Given the description of an element on the screen output the (x, y) to click on. 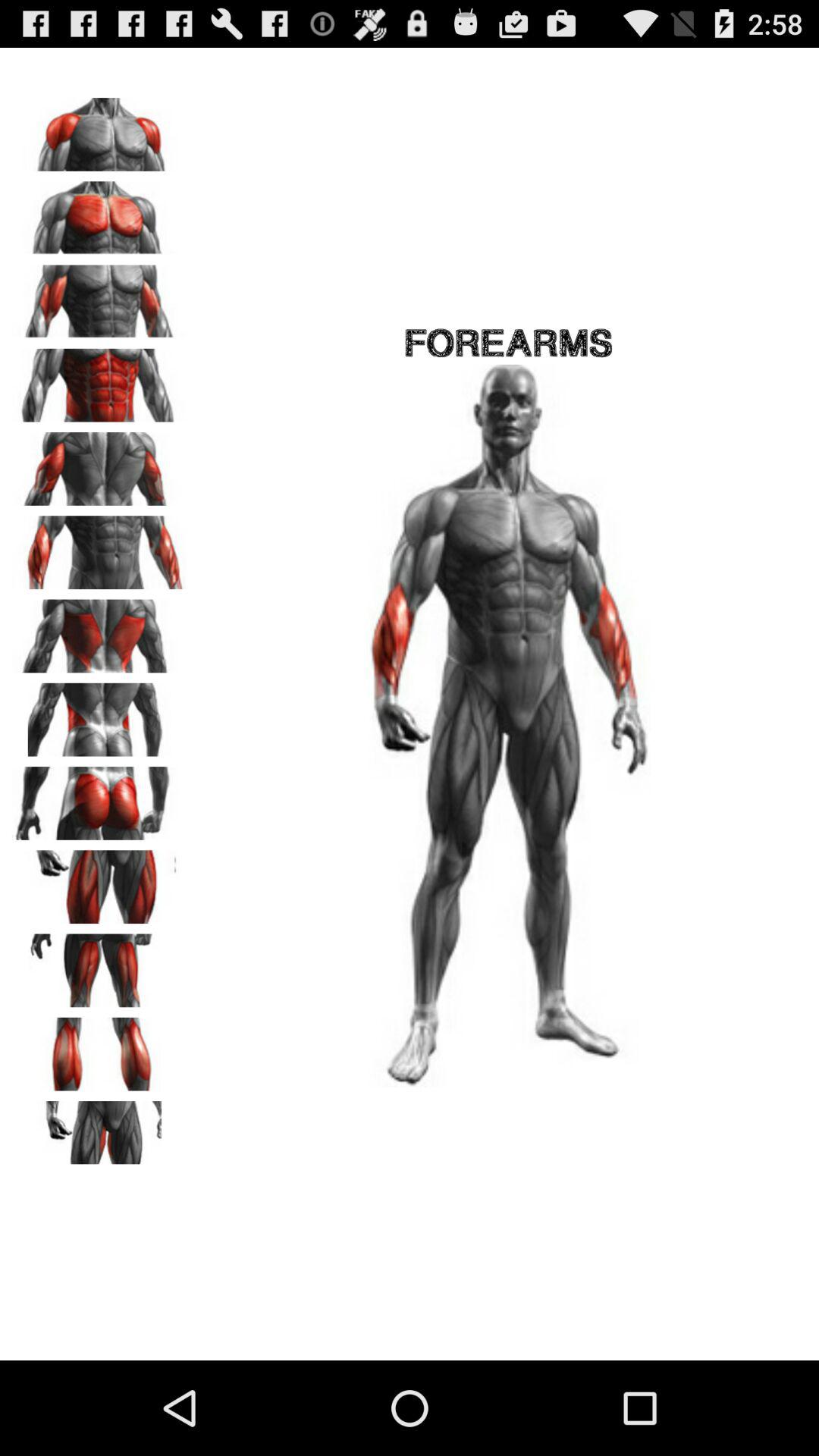
open the rear torso page (99, 714)
